Given the description of an element on the screen output the (x, y) to click on. 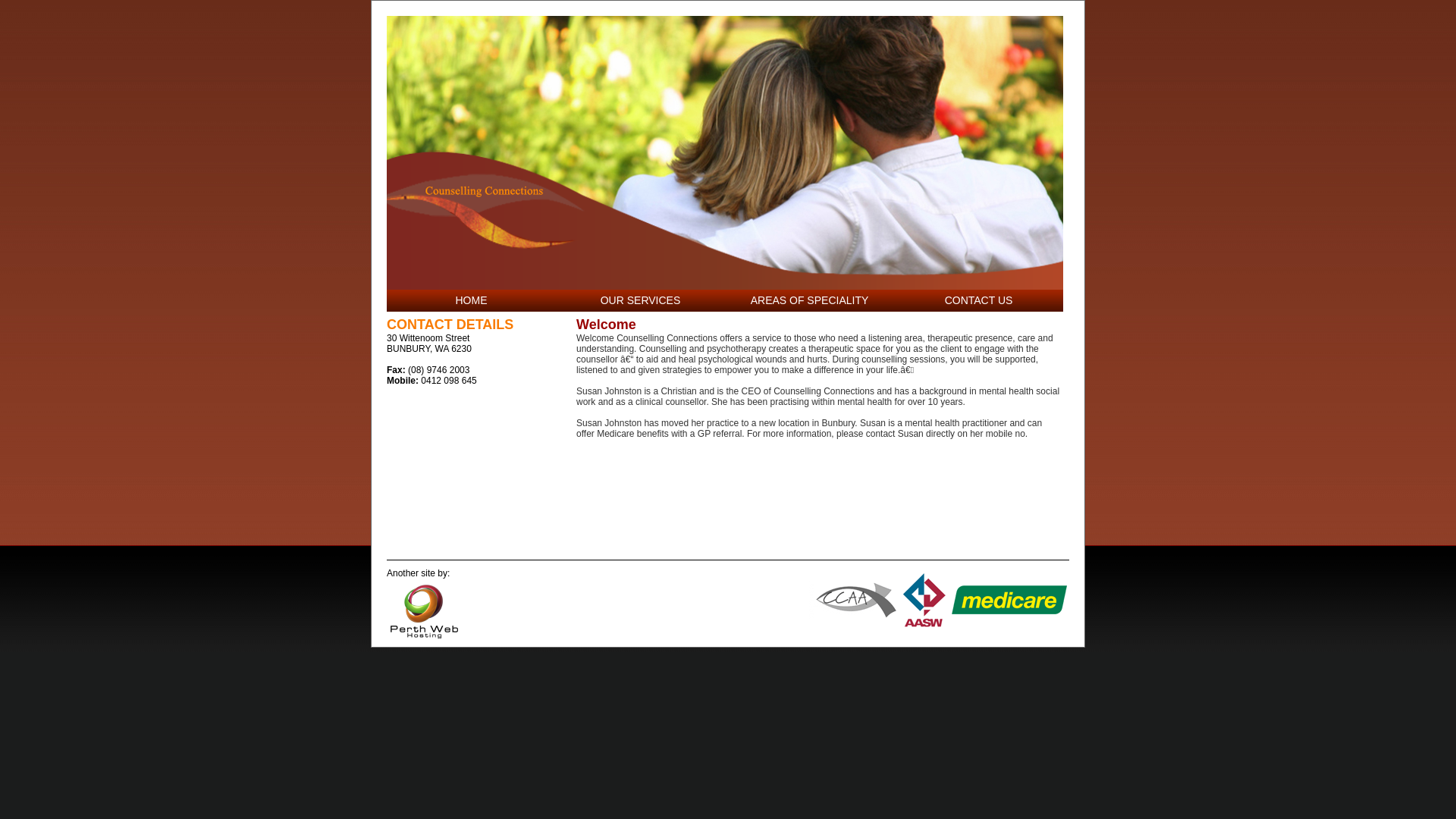
HOME Element type: text (470, 299)
AREAS OF SPECIALITY Element type: text (809, 299)
CONTACT US Element type: text (978, 299)
OUR SERVICES Element type: text (640, 299)
